Given the description of an element on the screen output the (x, y) to click on. 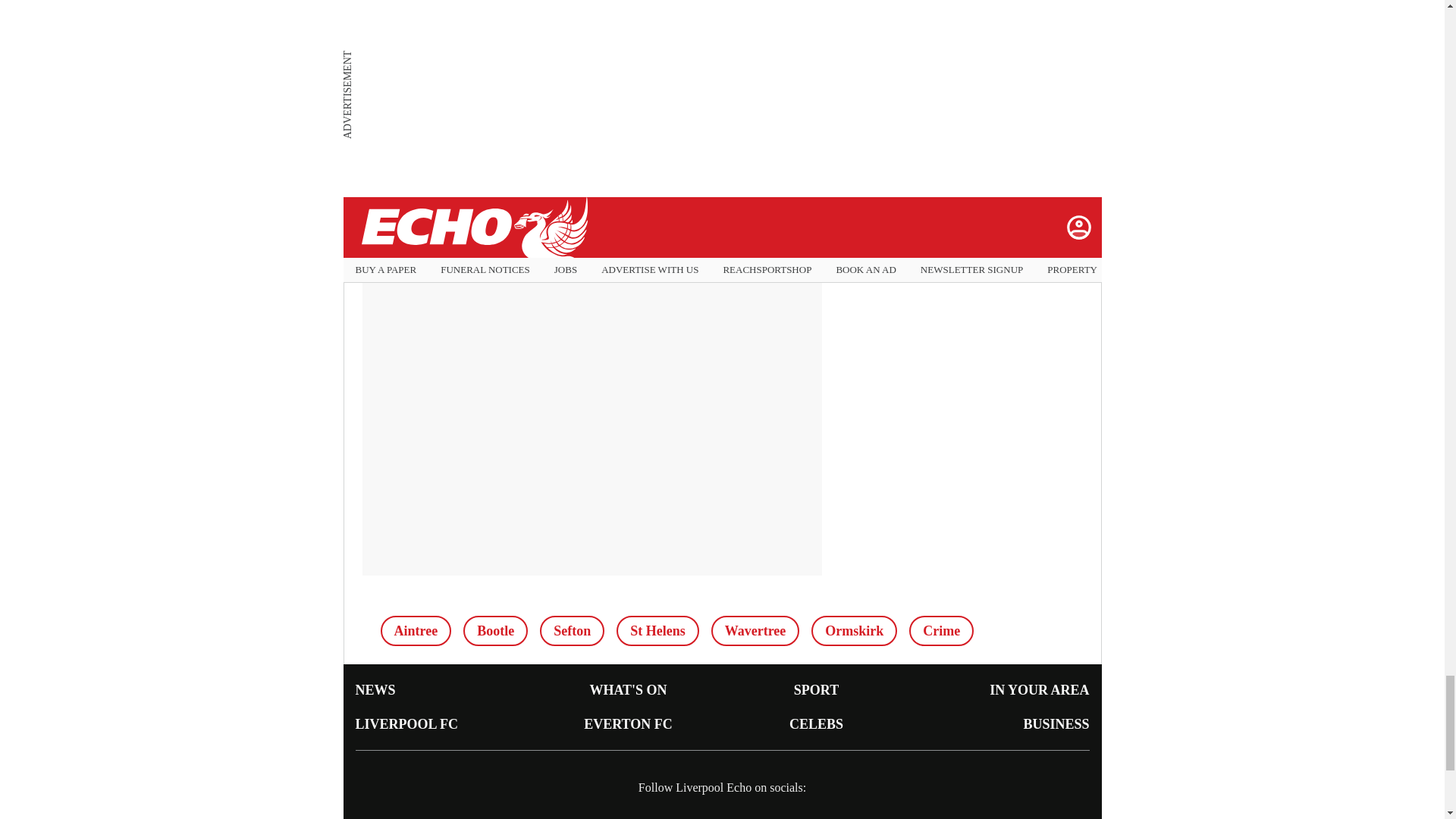
Facebook (421, 163)
Instagram (646, 163)
Twitter (533, 163)
